Given the description of an element on the screen output the (x, y) to click on. 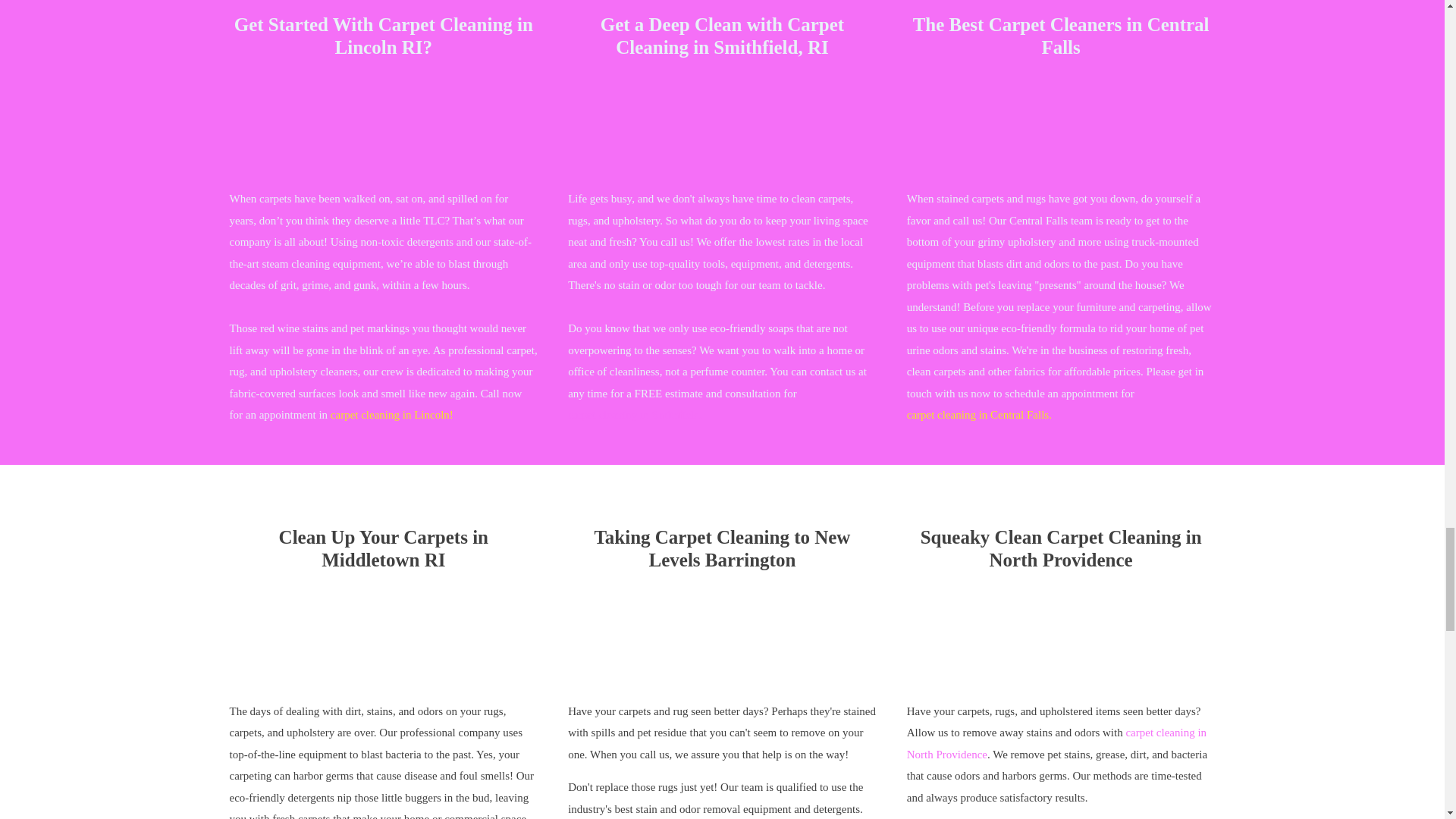
carpet cleaning in Smithfield. (634, 414)
carpet cleaning in Lincoln! (391, 414)
